Given the description of an element on the screen output the (x, y) to click on. 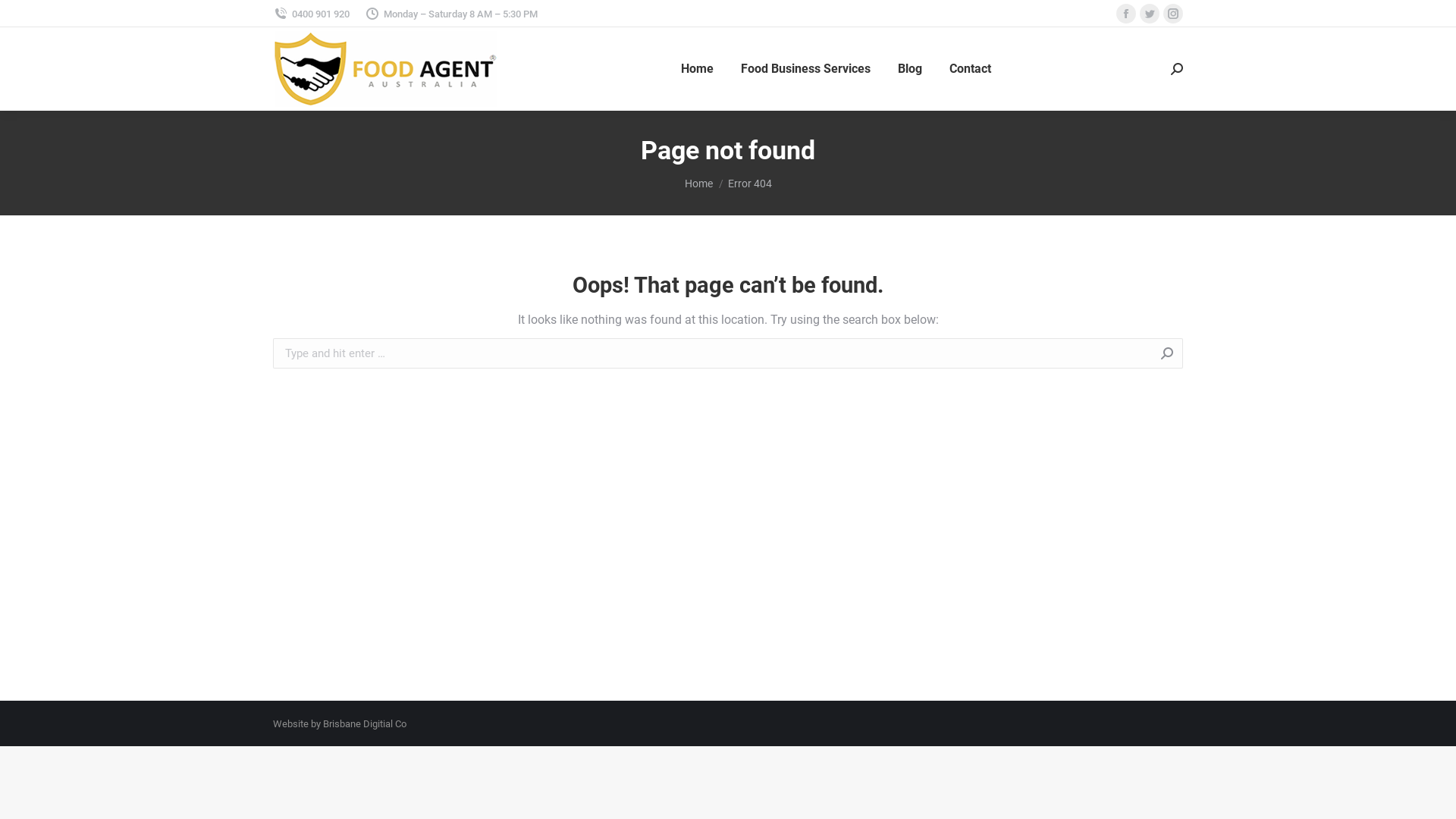
Home Element type: text (698, 183)
Facebook page opens in new window Element type: text (1125, 13)
Blog Element type: text (909, 68)
Go! Element type: text (23, 16)
Instagram page opens in new window Element type: text (1173, 13)
Home Element type: text (696, 68)
0400 901 920 Element type: text (311, 13)
Twitter page opens in new window Element type: text (1149, 13)
Go! Element type: text (1206, 354)
Brisbane Digitial Co Element type: text (364, 722)
Food Business Services Element type: text (804, 68)
Contact Element type: text (970, 68)
